Given the description of an element on the screen output the (x, y) to click on. 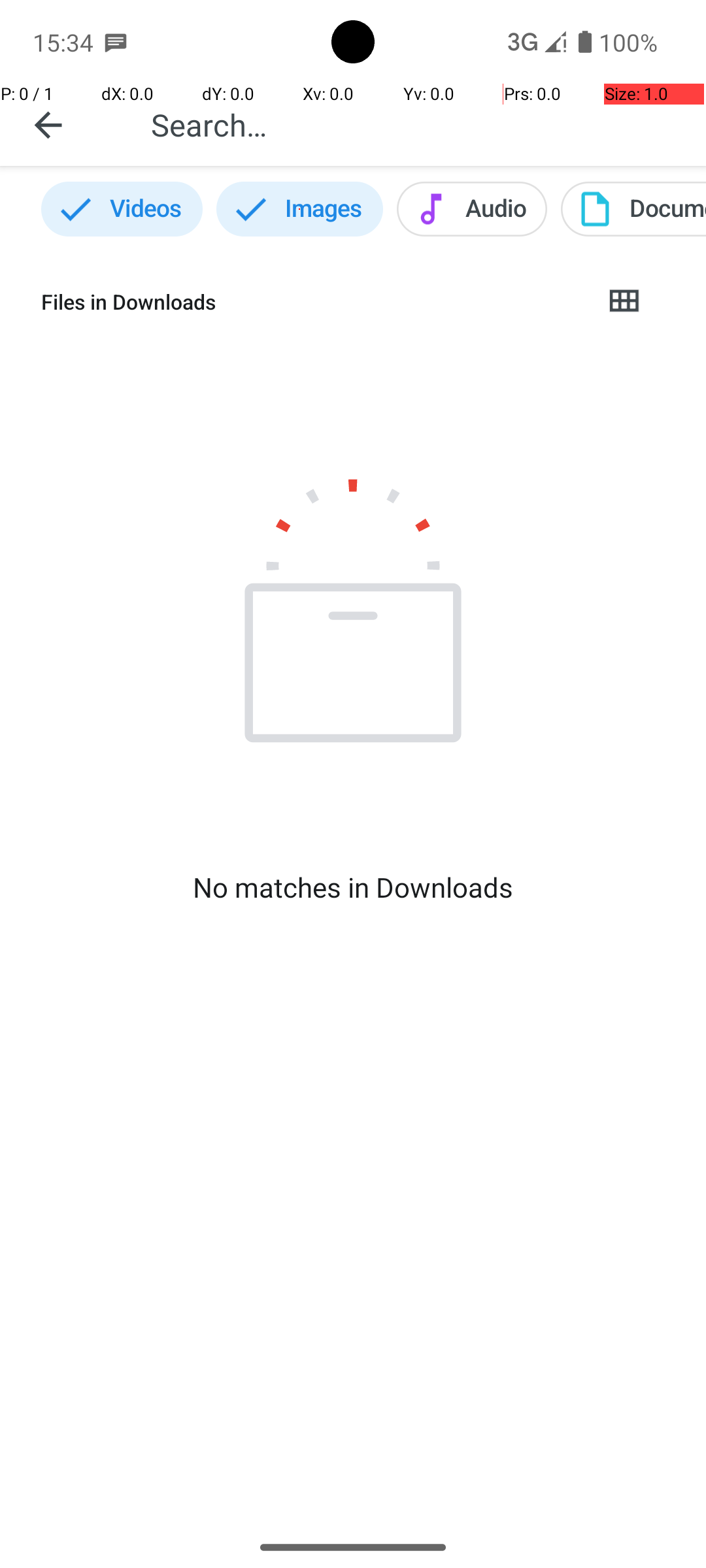
Files in Downloads Element type: android.widget.TextView (311, 301)
Grid view Element type: android.widget.TextView (622, 301)
Search… Element type: android.widget.AutoCompleteTextView (414, 124)
No matches in Downloads Element type: android.widget.TextView (353, 886)
